Given the description of an element on the screen output the (x, y) to click on. 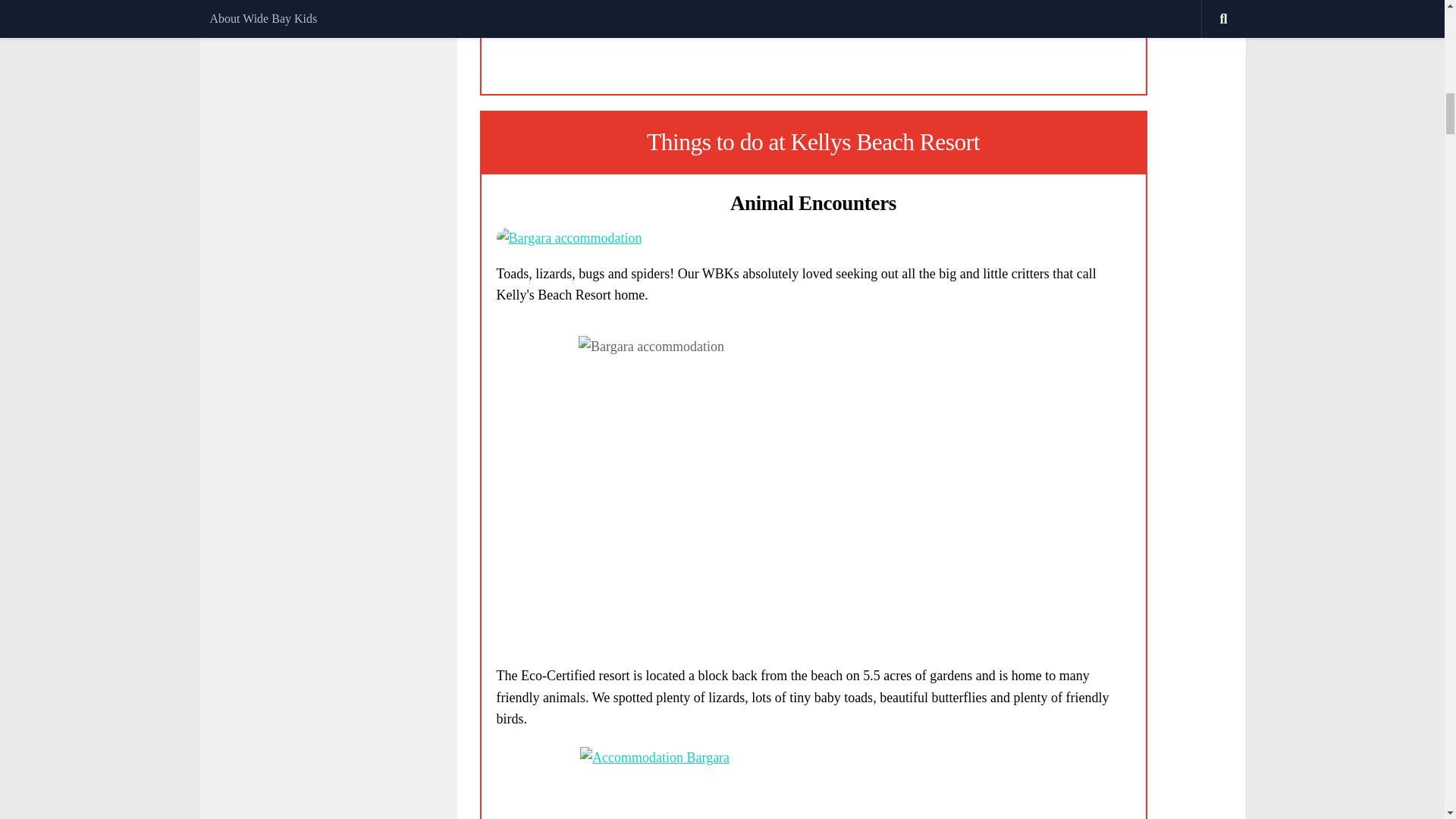
Kellys Beach Resort Bargara (569, 238)
Kellys Beach Resort (812, 782)
